Given the description of an element on the screen output the (x, y) to click on. 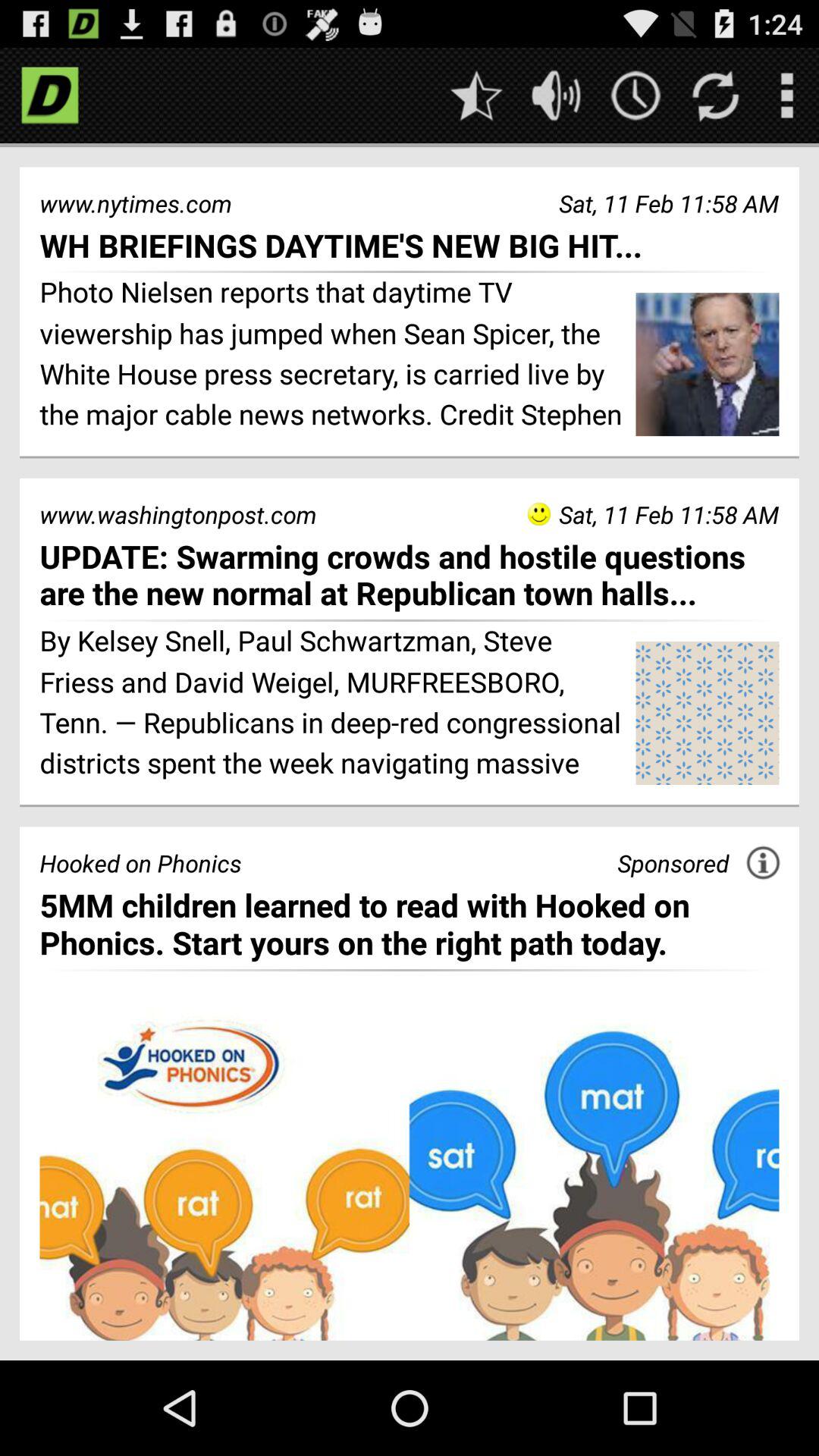
advertisement information (763, 862)
